Given the description of an element on the screen output the (x, y) to click on. 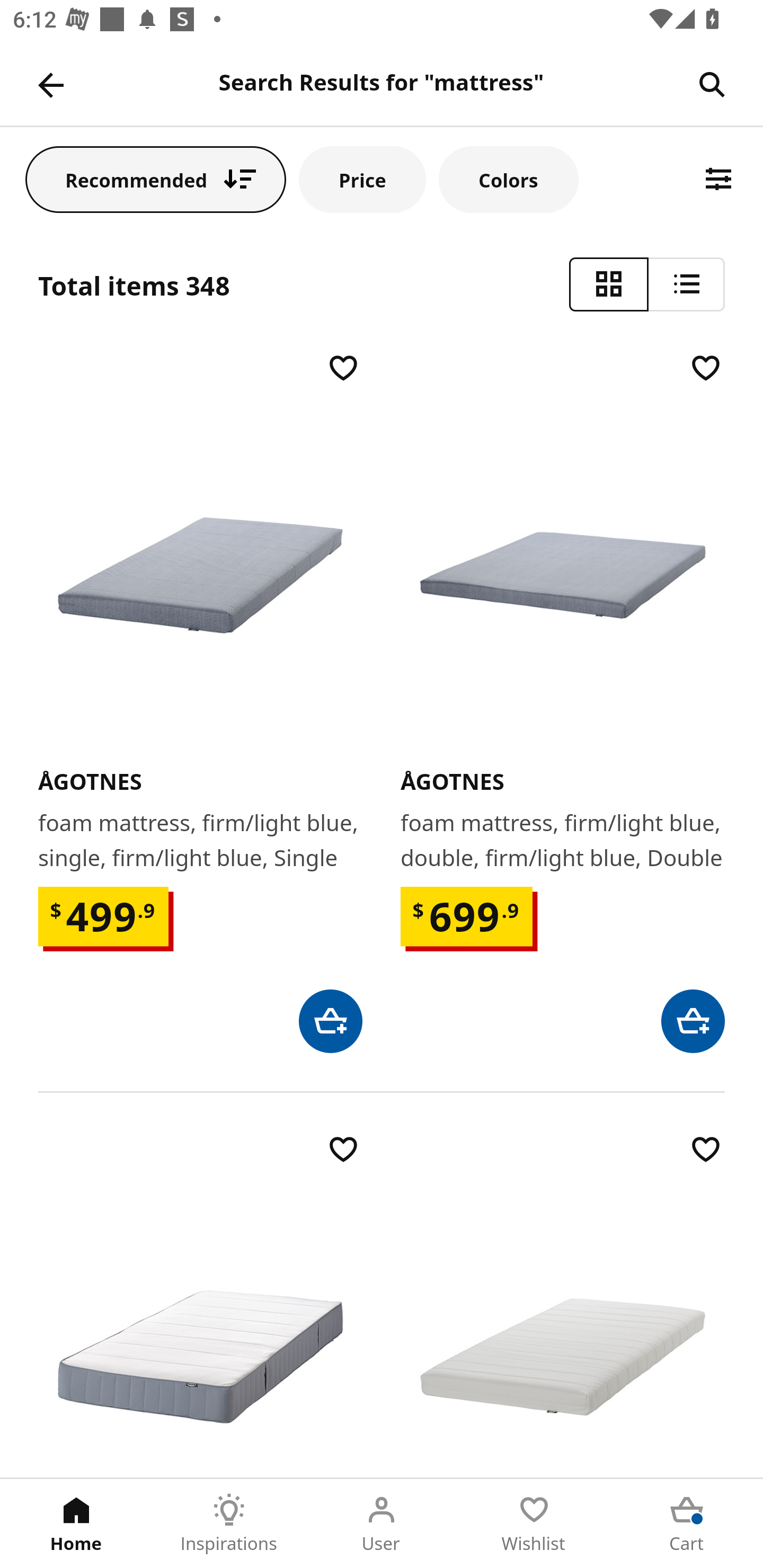
Recommended (155, 179)
Price (362, 179)
Colors (508, 179)
Home
Tab 1 of 5 (76, 1522)
Inspirations
Tab 2 of 5 (228, 1522)
User
Tab 3 of 5 (381, 1522)
Wishlist
Tab 4 of 5 (533, 1522)
Cart
Tab 5 of 5 (686, 1522)
